Given the description of an element on the screen output the (x, y) to click on. 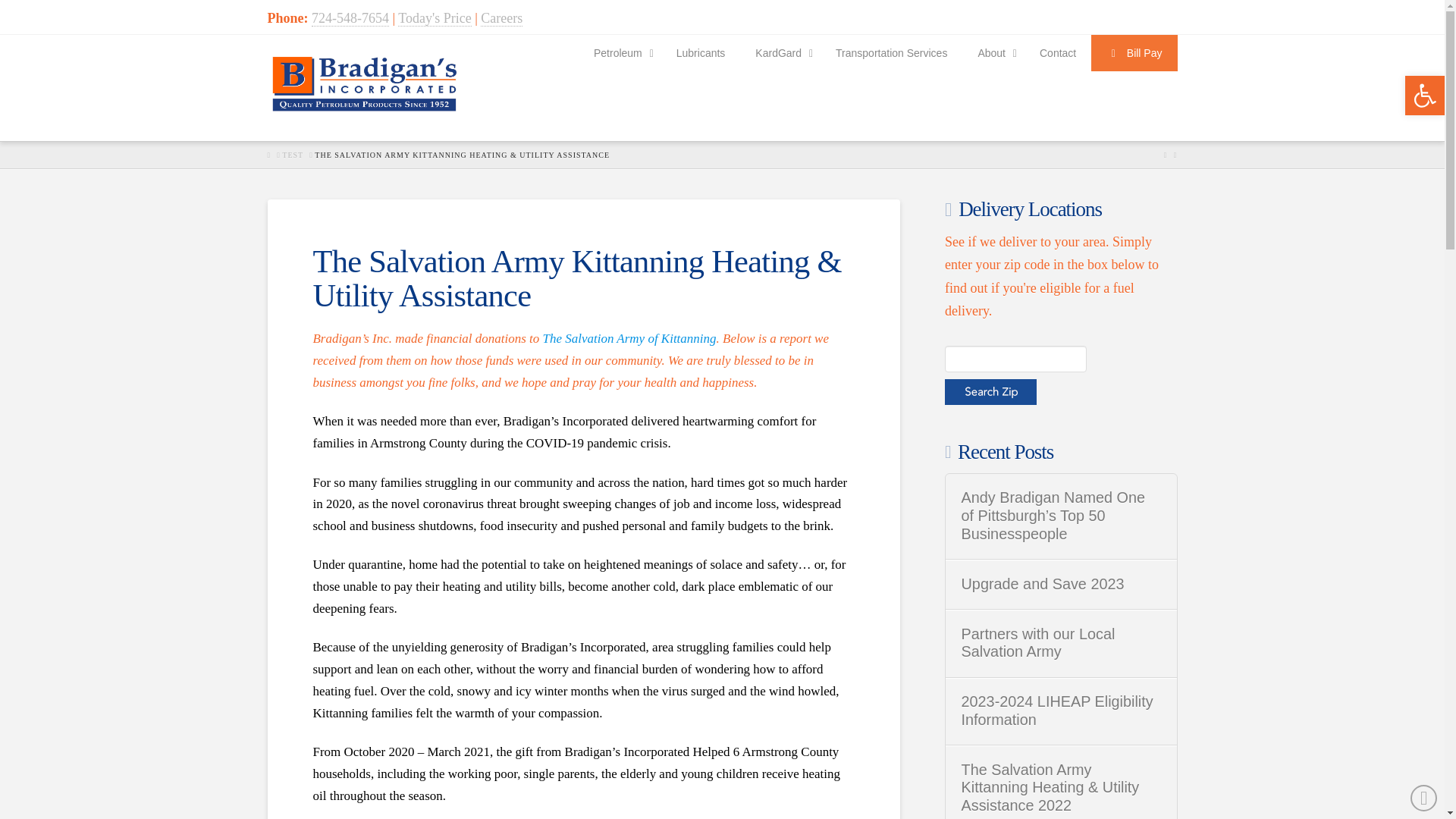
724-548-7654 (349, 18)
Transportation Services (891, 53)
Contact (1057, 53)
You Are Here (462, 154)
Petroleum (619, 53)
TEST (292, 154)
About (993, 53)
Today's Price (433, 18)
Accessibility Tools (1424, 95)
KardGard (780, 53)
Lubricants (701, 53)
Careers (501, 18)
Bill Pay (1133, 53)
Back to Top (1423, 797)
